Given the description of an element on the screen output the (x, y) to click on. 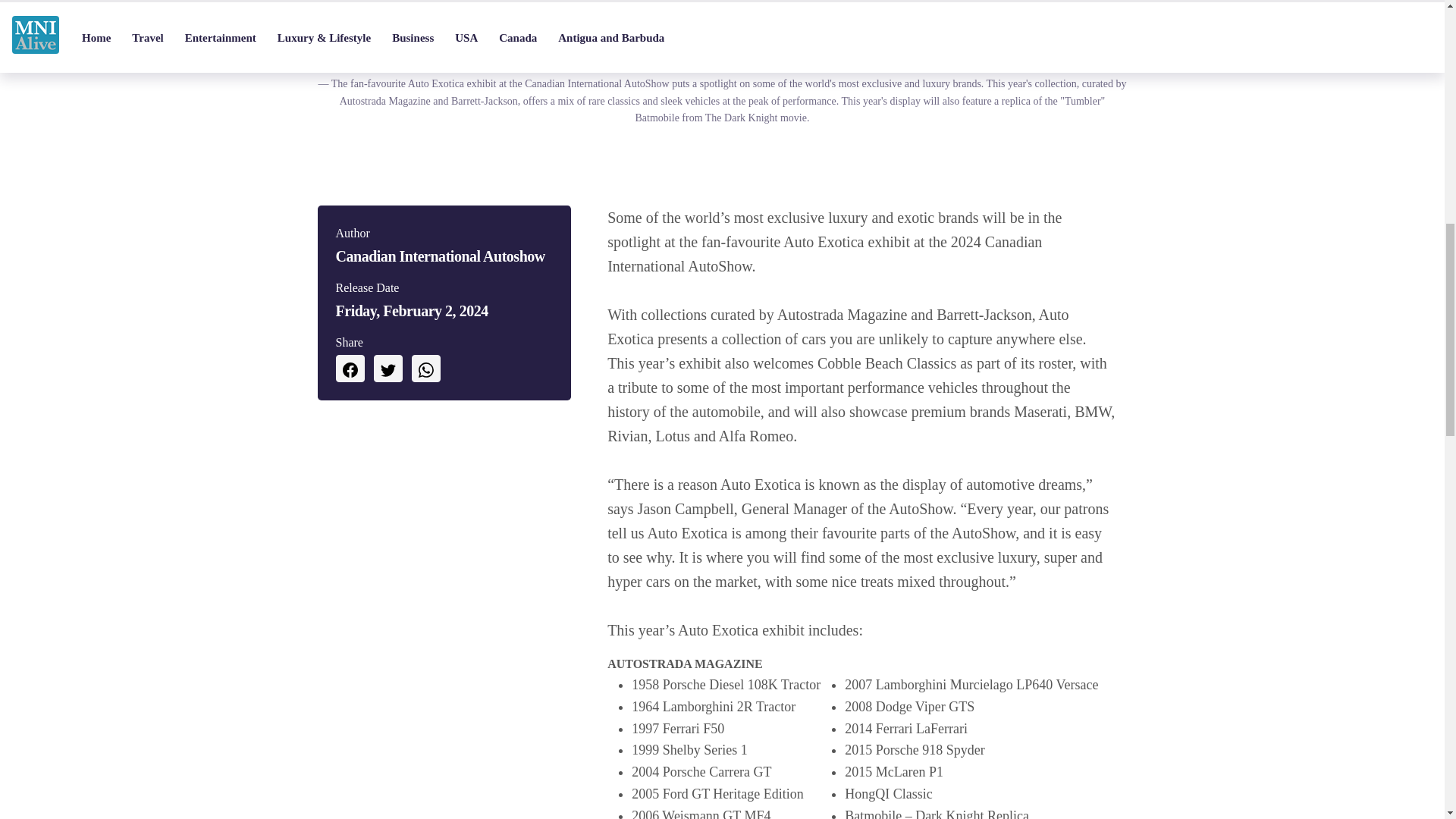
Share on Facebook (349, 368)
Share on WhatsApp (424, 368)
Share on Twitter (386, 368)
